Given the description of an element on the screen output the (x, y) to click on. 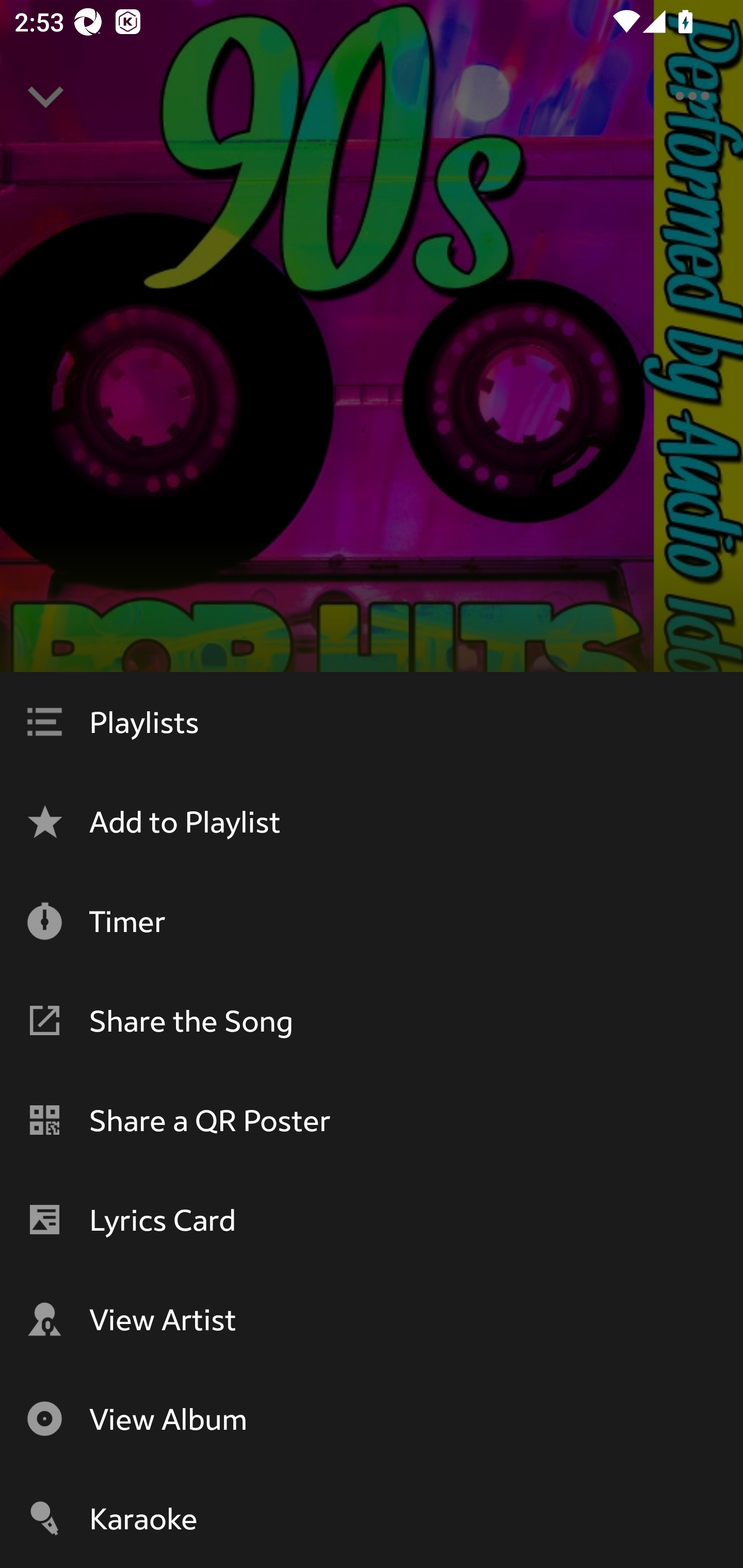
Playlists (371, 721)
Add to Playlist (371, 821)
Timer (371, 920)
Share the Song (371, 1020)
Share a QR Poster (371, 1119)
Lyrics Card (371, 1219)
View Artist (371, 1319)
View Album (371, 1418)
Karaoke (371, 1518)
